Given the description of an element on the screen output the (x, y) to click on. 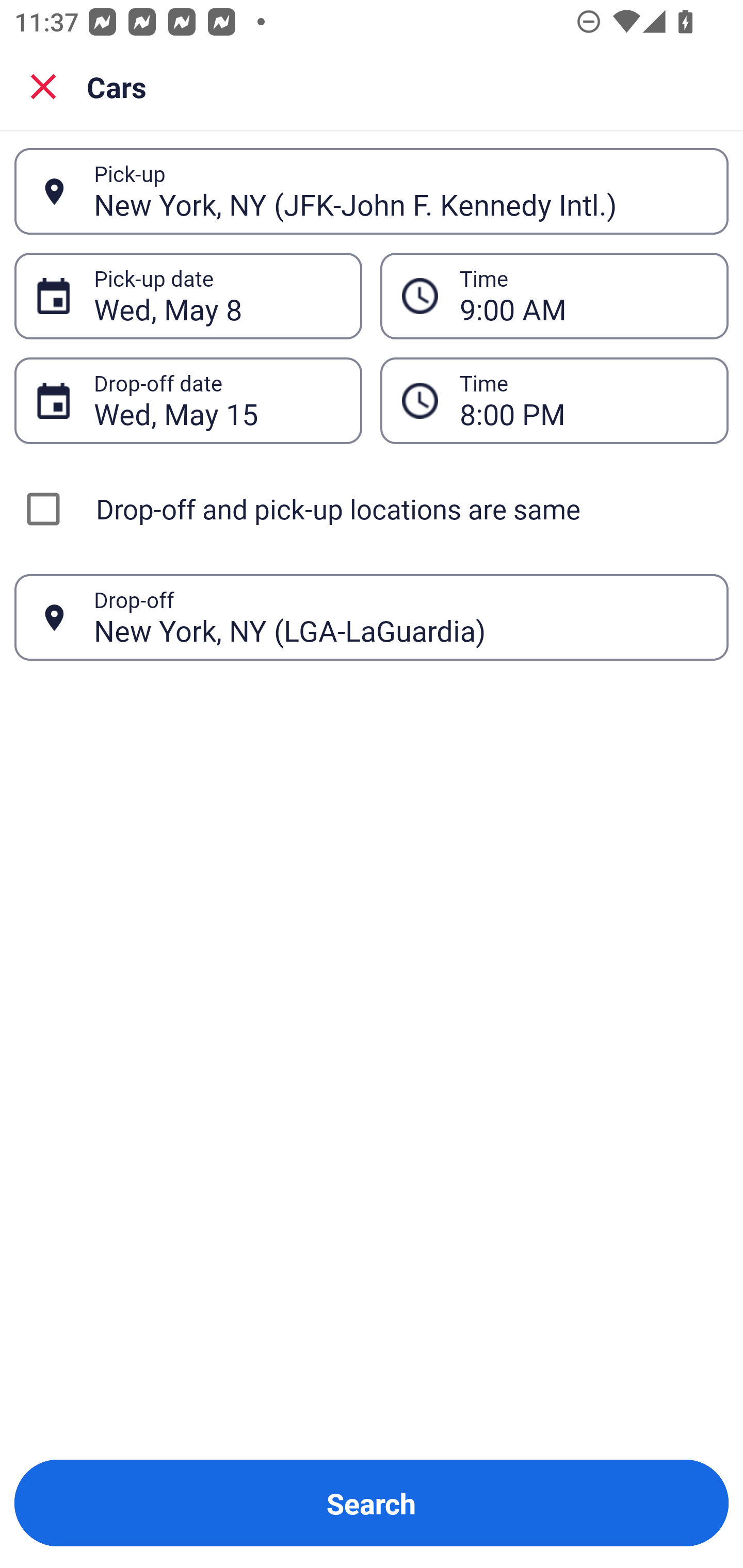
Close search screen (43, 86)
New York, NY (JFK-John F. Kennedy Intl.) Pick-up (371, 191)
New York, NY (JFK-John F. Kennedy Intl.) (399, 191)
Wed, May 8 Pick-up date (188, 295)
9:00 AM (554, 295)
Wed, May 8 (216, 296)
9:00 AM (582, 296)
Wed, May 15 Drop-off date (188, 400)
8:00 PM (554, 400)
Wed, May 15 (216, 400)
8:00 PM (582, 400)
Drop-off and pick-up locations are same (371, 508)
New York, NY (LGA-LaGuardia) Drop-off (371, 616)
New York, NY (LGA-LaGuardia) (399, 616)
Search Button Search (371, 1502)
